Given the description of an element on the screen output the (x, y) to click on. 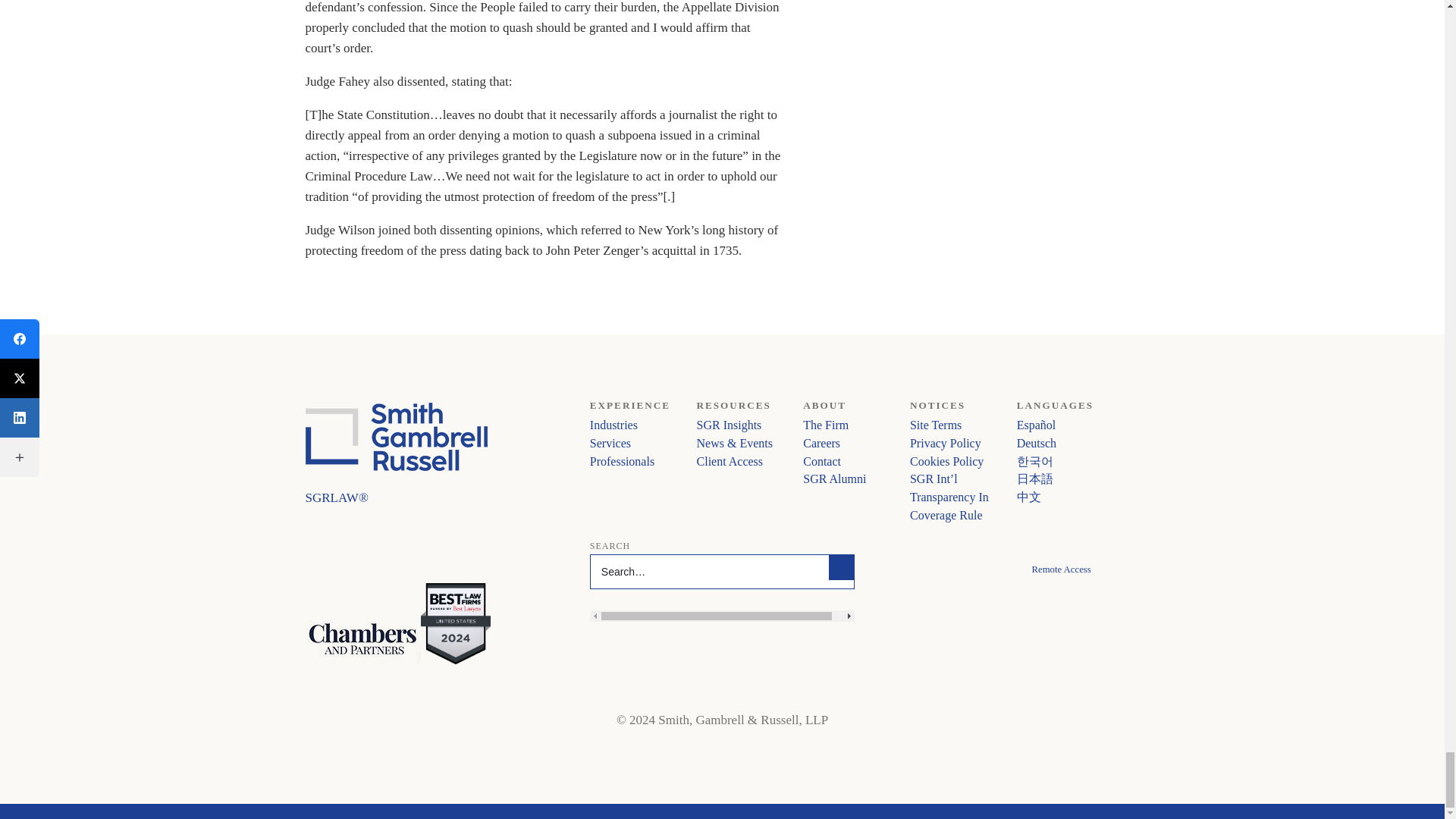
Privacy Policy (945, 442)
Professionals (621, 460)
Careers (821, 442)
Industries (613, 424)
Contact (822, 460)
SGR Insights (729, 424)
Client Access (729, 460)
Cookies Policy (947, 460)
SGR Alumni (834, 478)
Site Terms (935, 424)
Services (609, 442)
The Firm (825, 424)
